Given the description of an element on the screen output the (x, y) to click on. 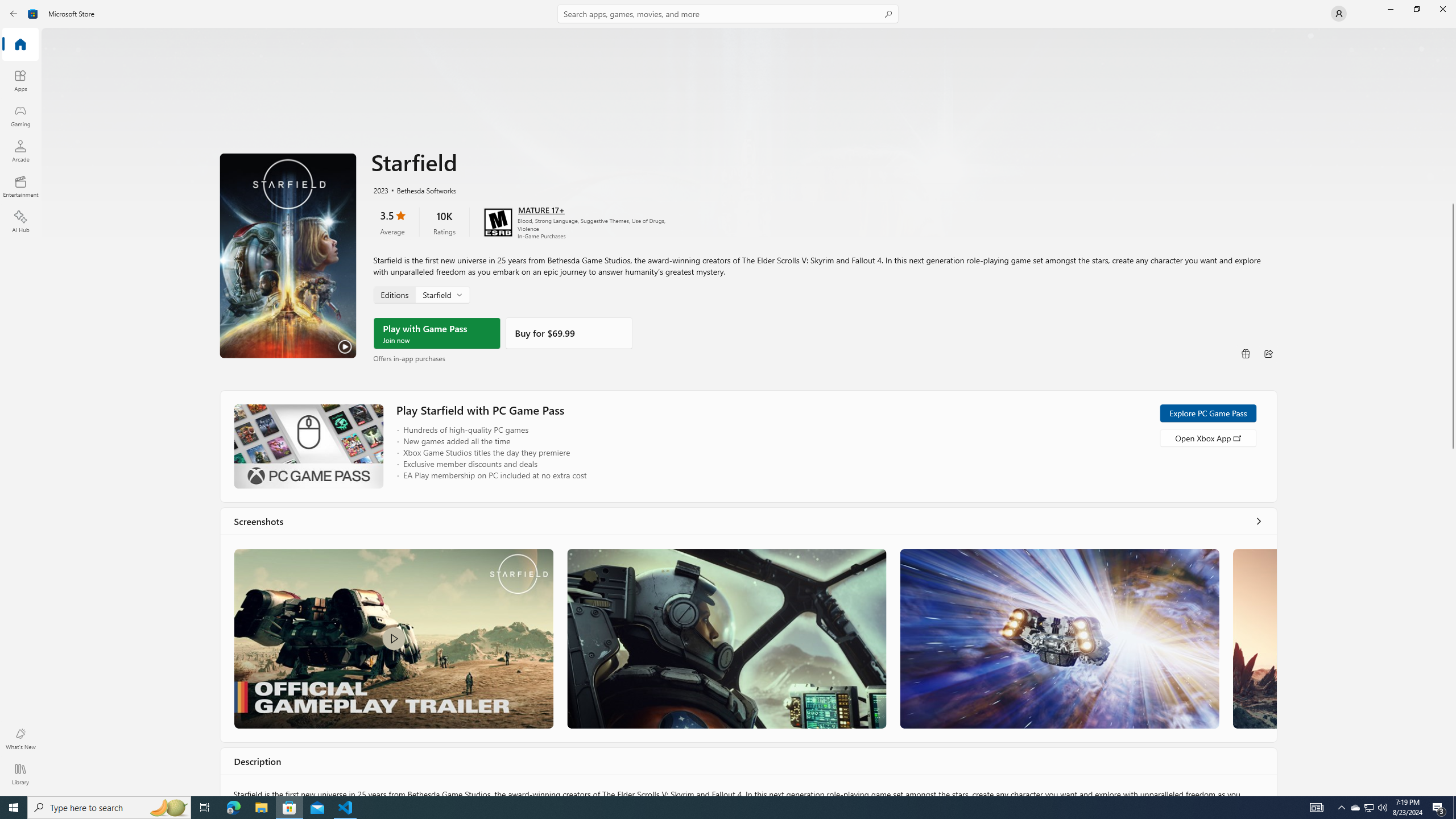
Class: Image (393, 638)
Screenshot 4 (1253, 638)
Buy (568, 332)
Home (20, 45)
Close Microsoft Store (1442, 9)
Entertainment (20, 185)
Explore PC Game Pass (1207, 412)
Age rating: MATURE 17+. Click for more information. (540, 208)
Back (13, 13)
Play Trailer (287, 255)
Share (1267, 353)
Library (20, 773)
Arcade (20, 150)
Buy as gift (1245, 353)
AutomationID: NavigationControl (728, 398)
